Given the description of an element on the screen output the (x, y) to click on. 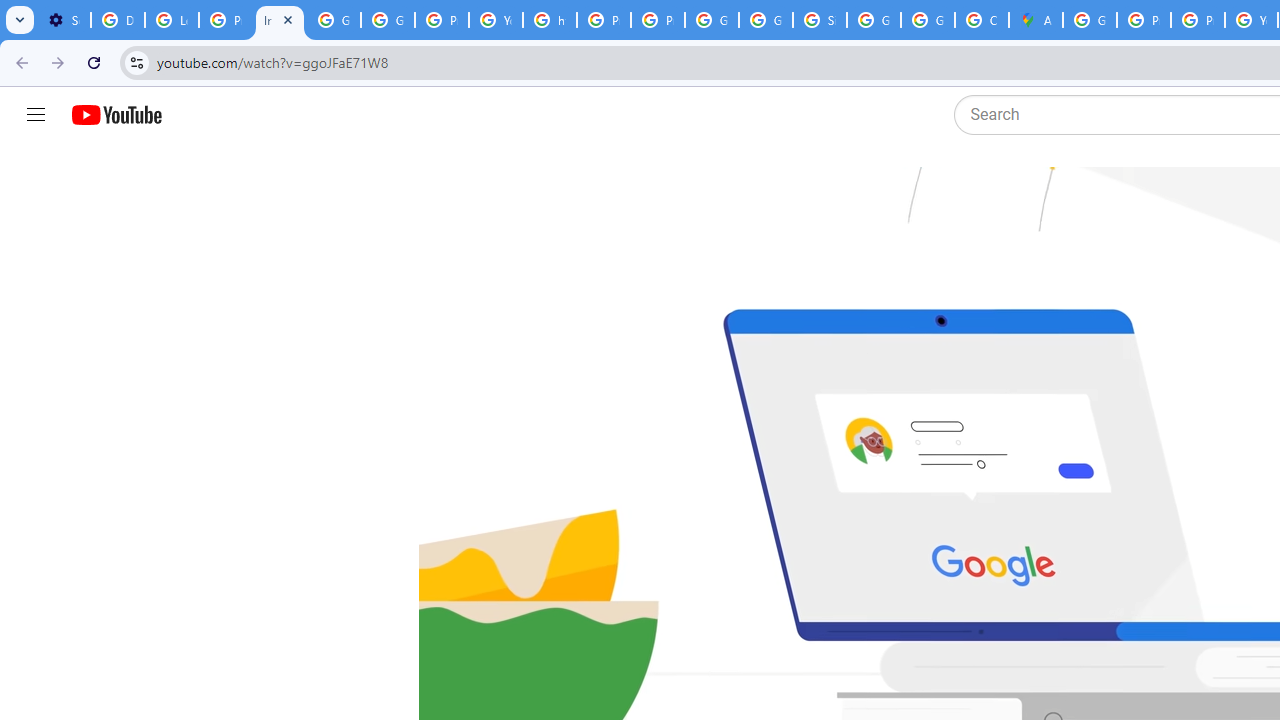
Google Account Help (333, 20)
Guide (35, 115)
YouTube (495, 20)
